Given the description of an element on the screen output the (x, y) to click on. 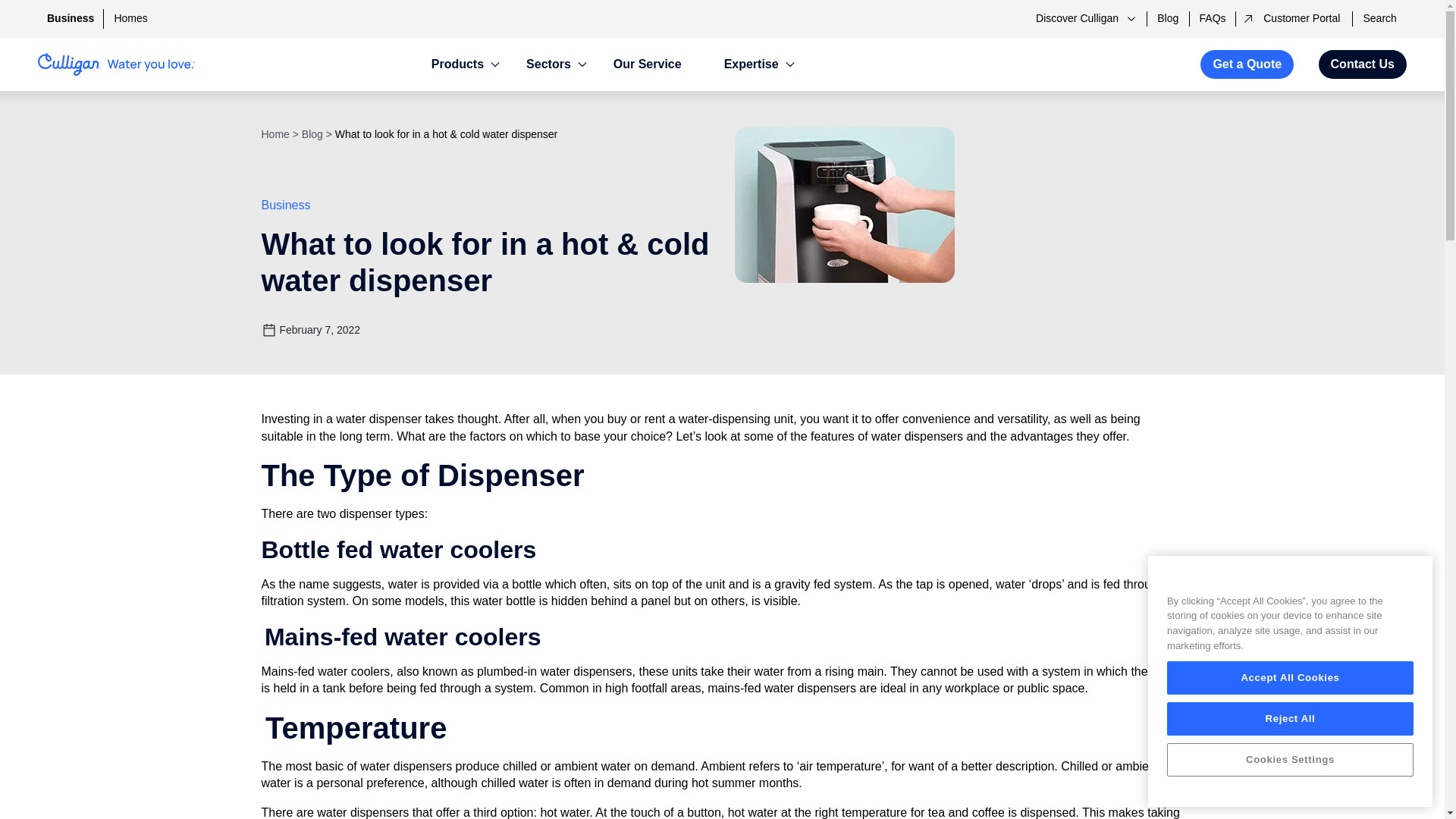
Discover Culligan (1085, 18)
Business (70, 18)
Sectors (547, 63)
Products (457, 63)
Customer Portal (1294, 18)
Products (457, 63)
Discover Culligan (1085, 18)
Search (1379, 18)
Sectors (547, 63)
FAQs (1212, 18)
Blog (1168, 18)
Homes (130, 18)
